Given the description of an element on the screen output the (x, y) to click on. 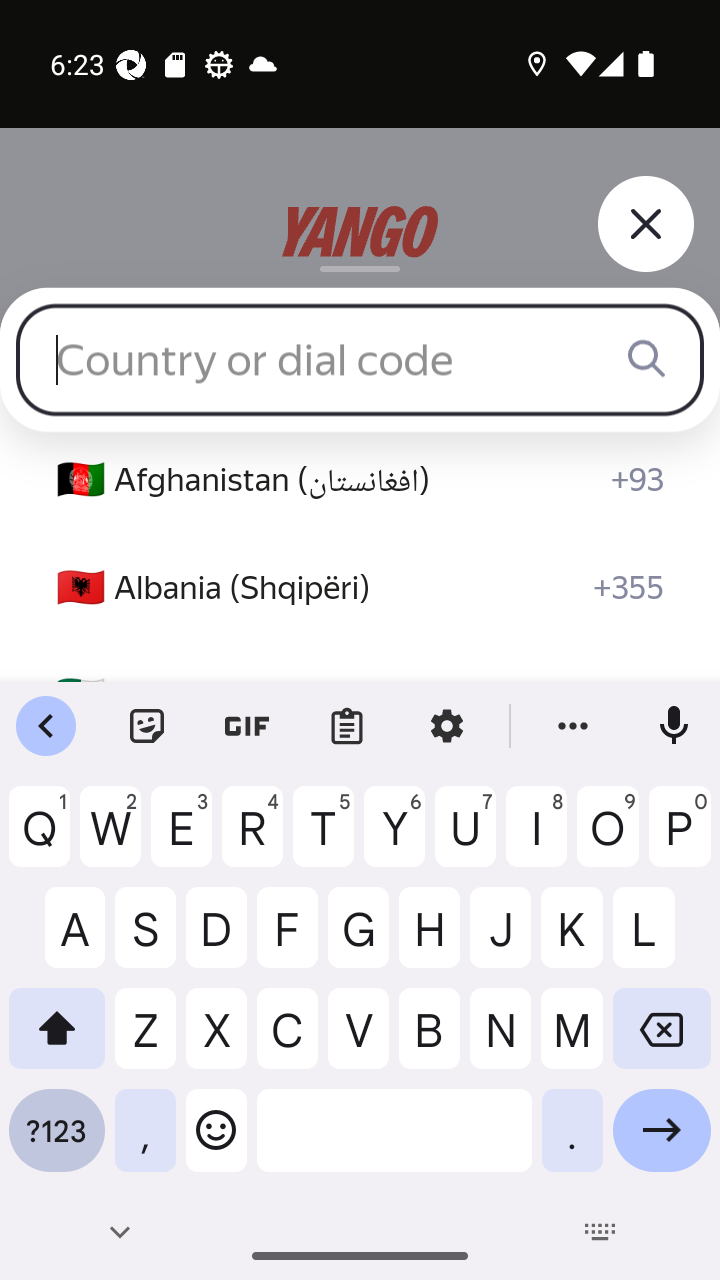
logo (359, 231)
🇦🇫 Afghanistan (‫افغانستان‬‎) +93 (359, 479)
🇦🇱 Albania (Shqipëri) +355 (359, 588)
